Given the description of an element on the screen output the (x, y) to click on. 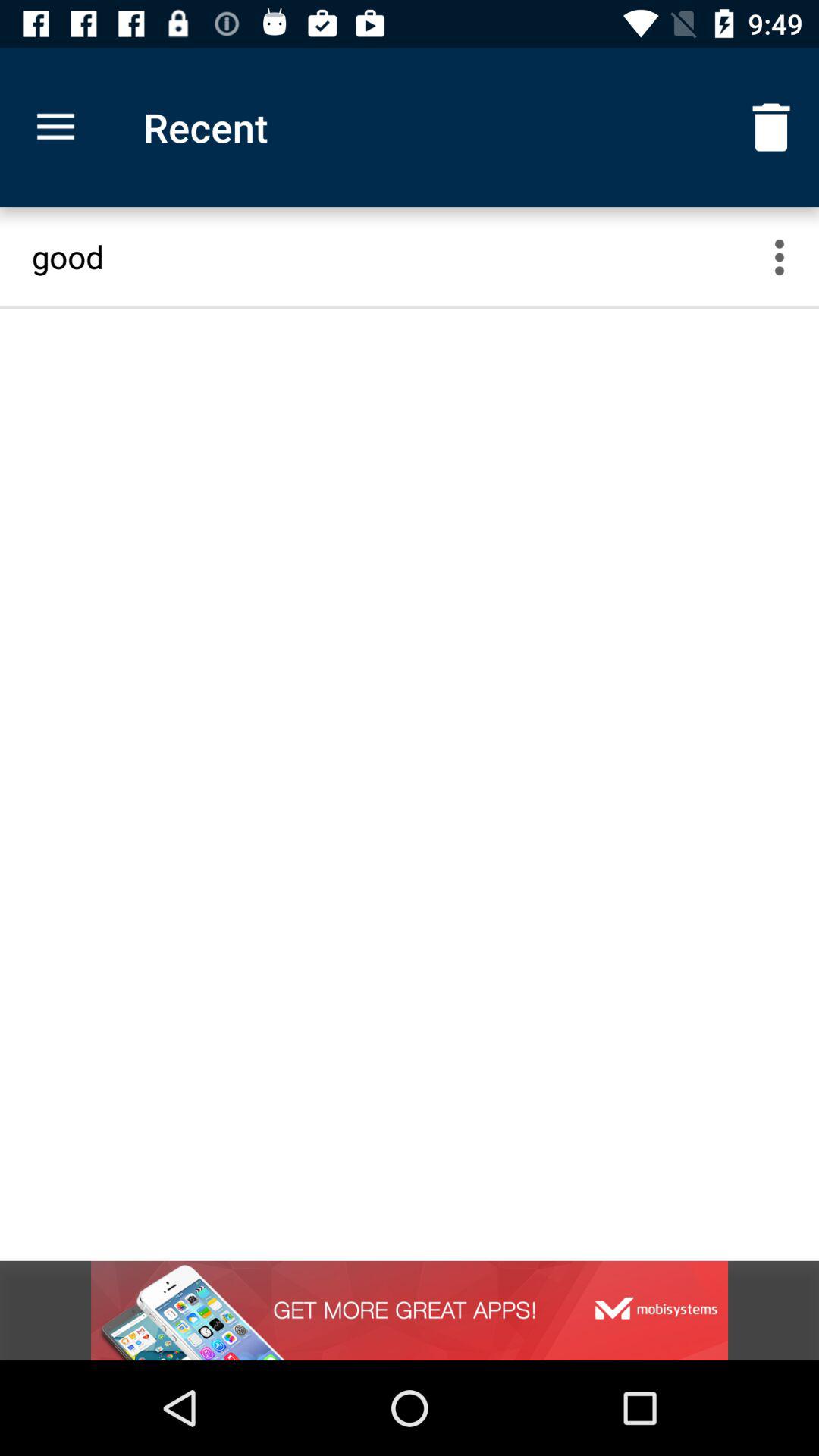
open the item above the good item (771, 127)
